Given the description of an element on the screen output the (x, y) to click on. 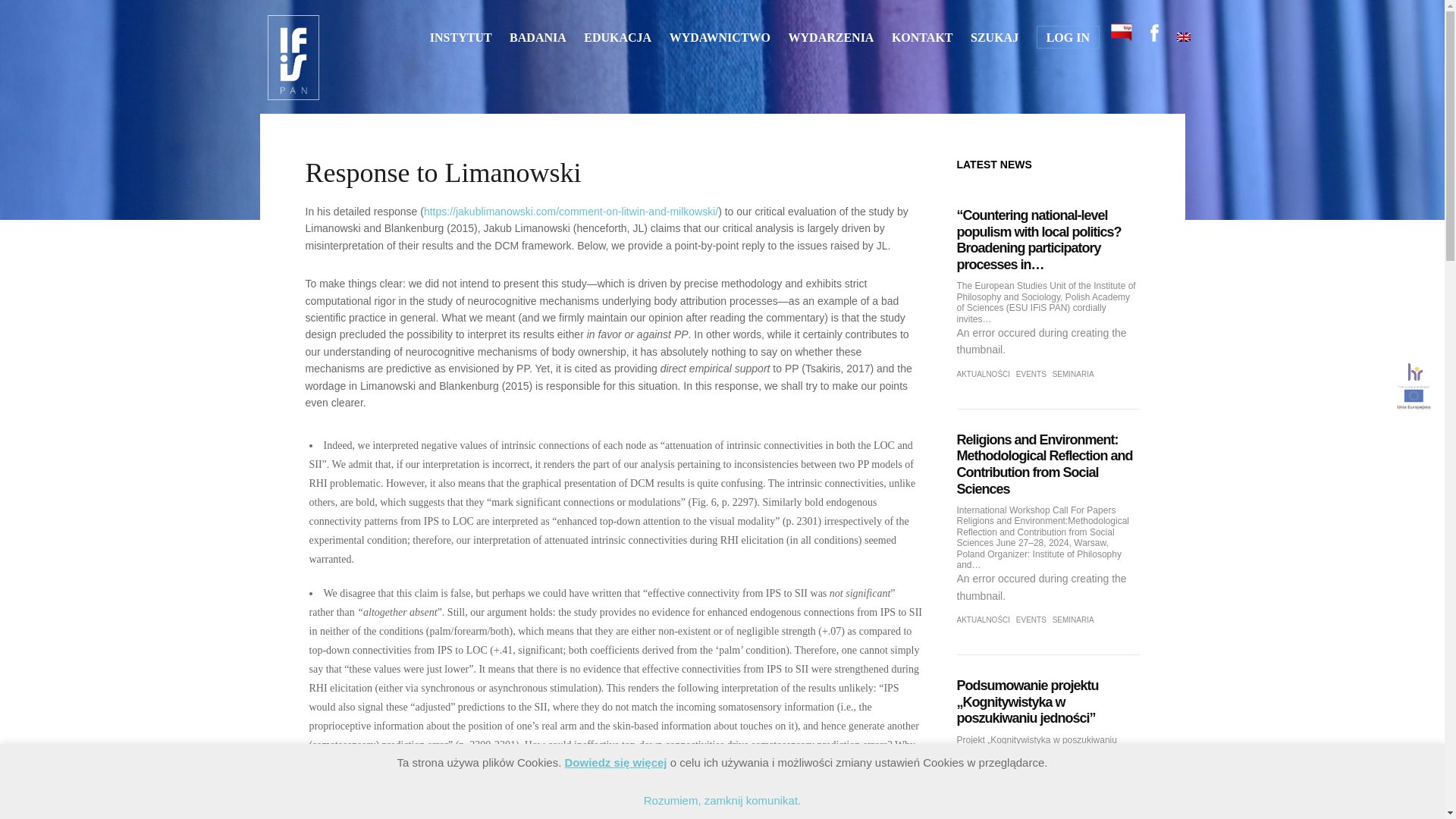
EDUKACJA (617, 37)
INSTYTUT (460, 37)
HR Excellence  in Research (1414, 375)
WYDARZENIA (831, 37)
Unia Europejska (1414, 399)
BADANIA (537, 37)
WYDAWNICTWO (719, 37)
